Given the description of an element on the screen output the (x, y) to click on. 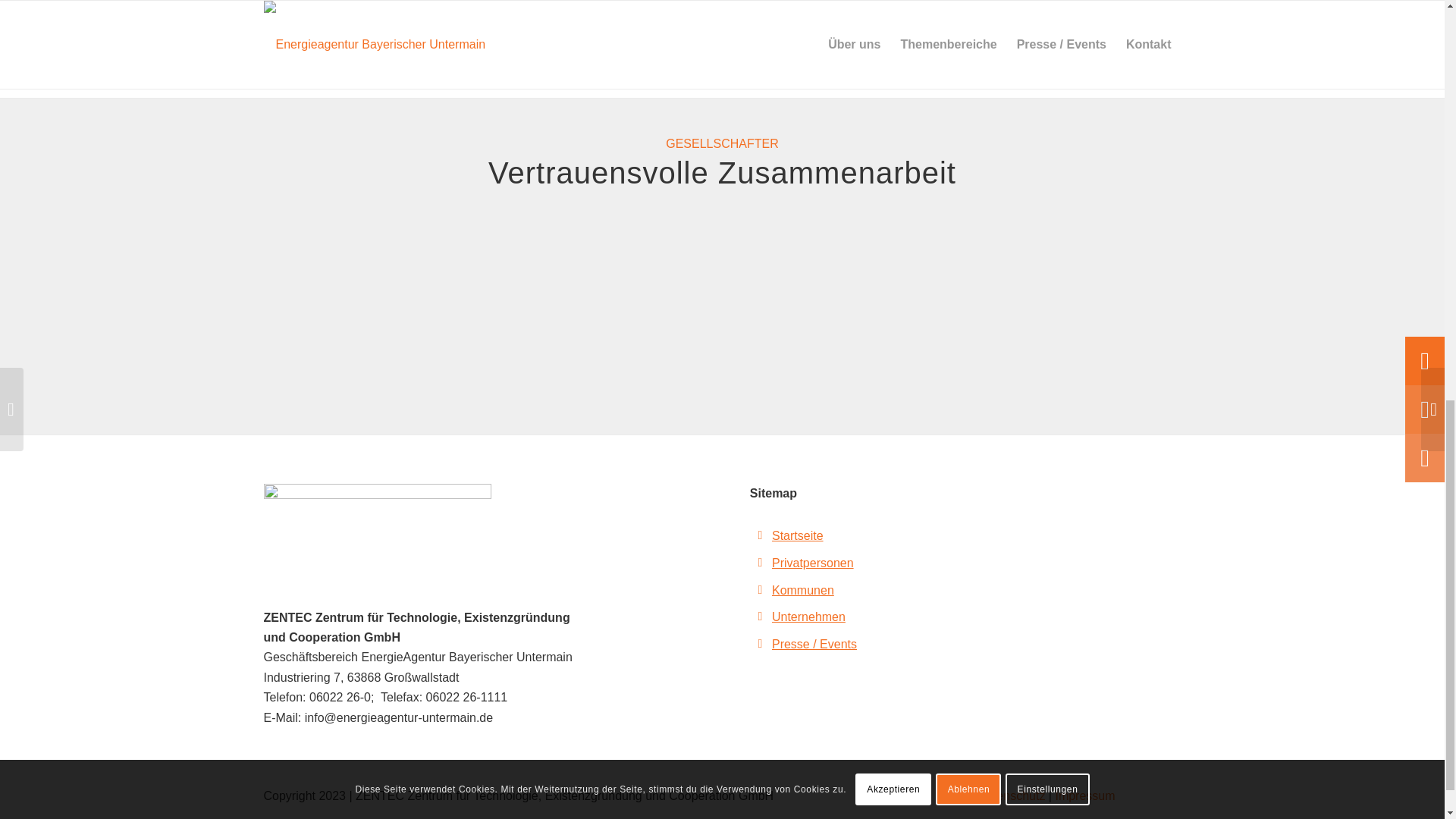
Privatpersonen (812, 562)
Unternehmen (808, 616)
Kommunen (802, 590)
Startseite  (797, 535)
